Given the description of an element on the screen output the (x, y) to click on. 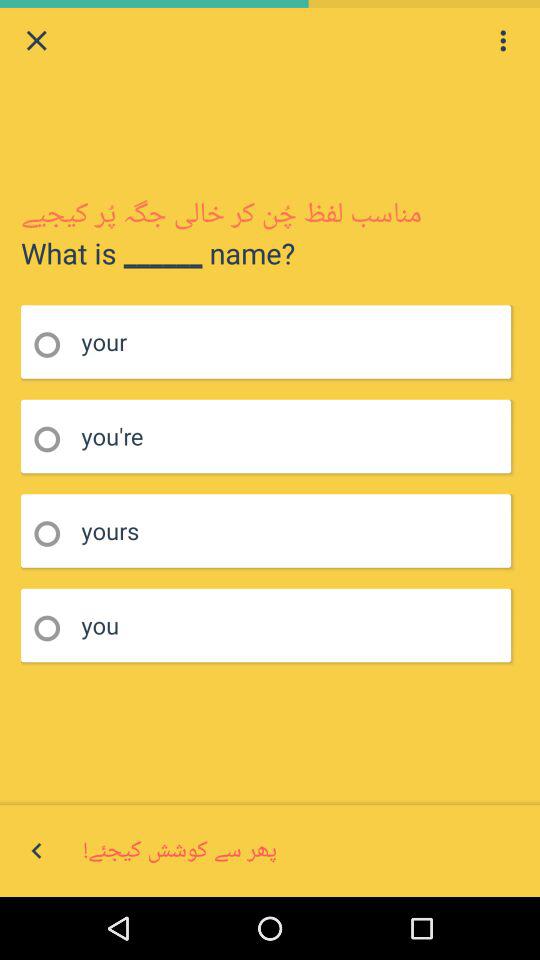
click the option (53, 628)
